Given the description of an element on the screen output the (x, y) to click on. 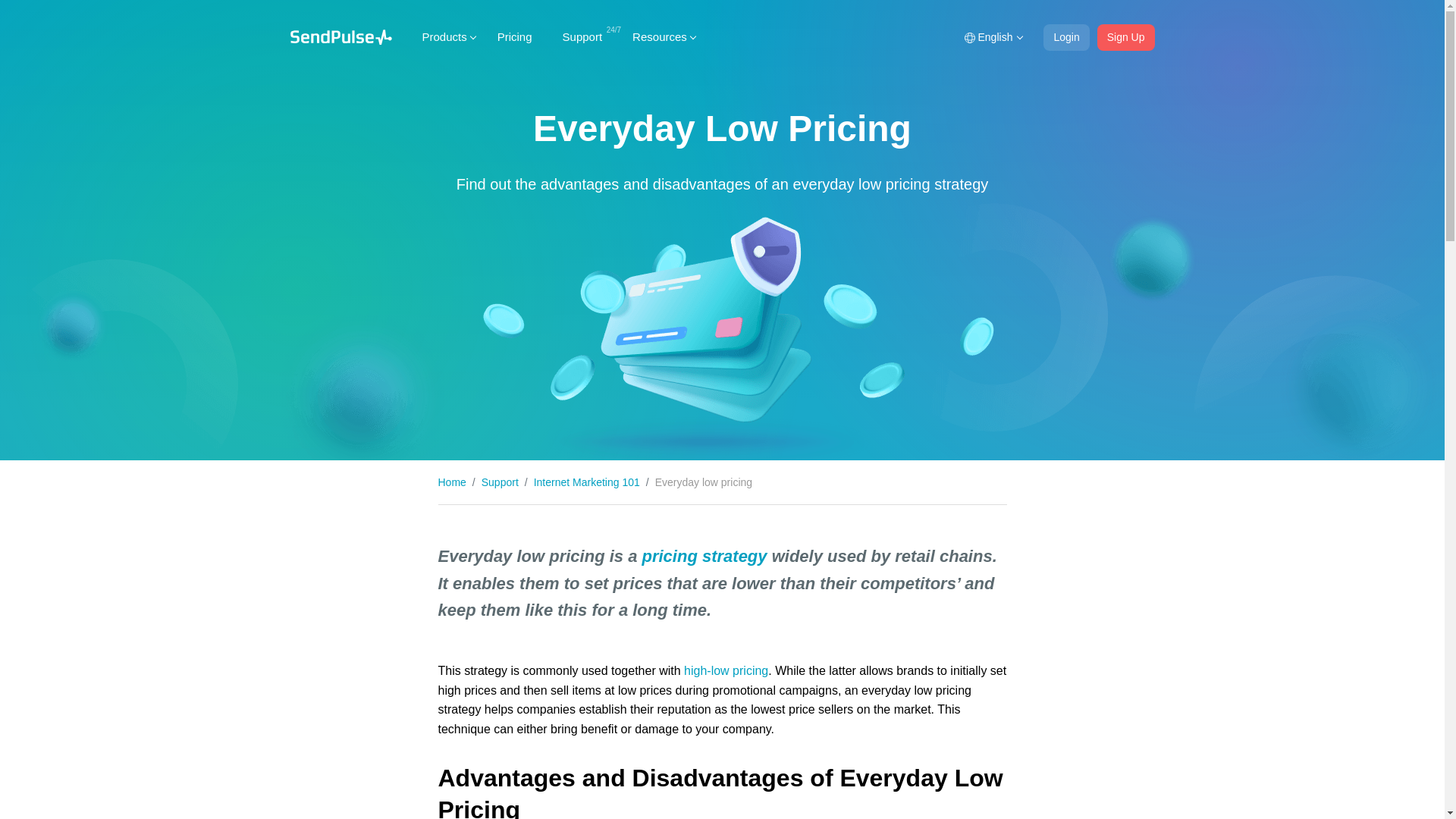
English (991, 37)
Login (1066, 37)
Products (443, 36)
Support (582, 36)
Resources (659, 36)
English (991, 37)
Pricing (514, 36)
